Given the description of an element on the screen output the (x, y) to click on. 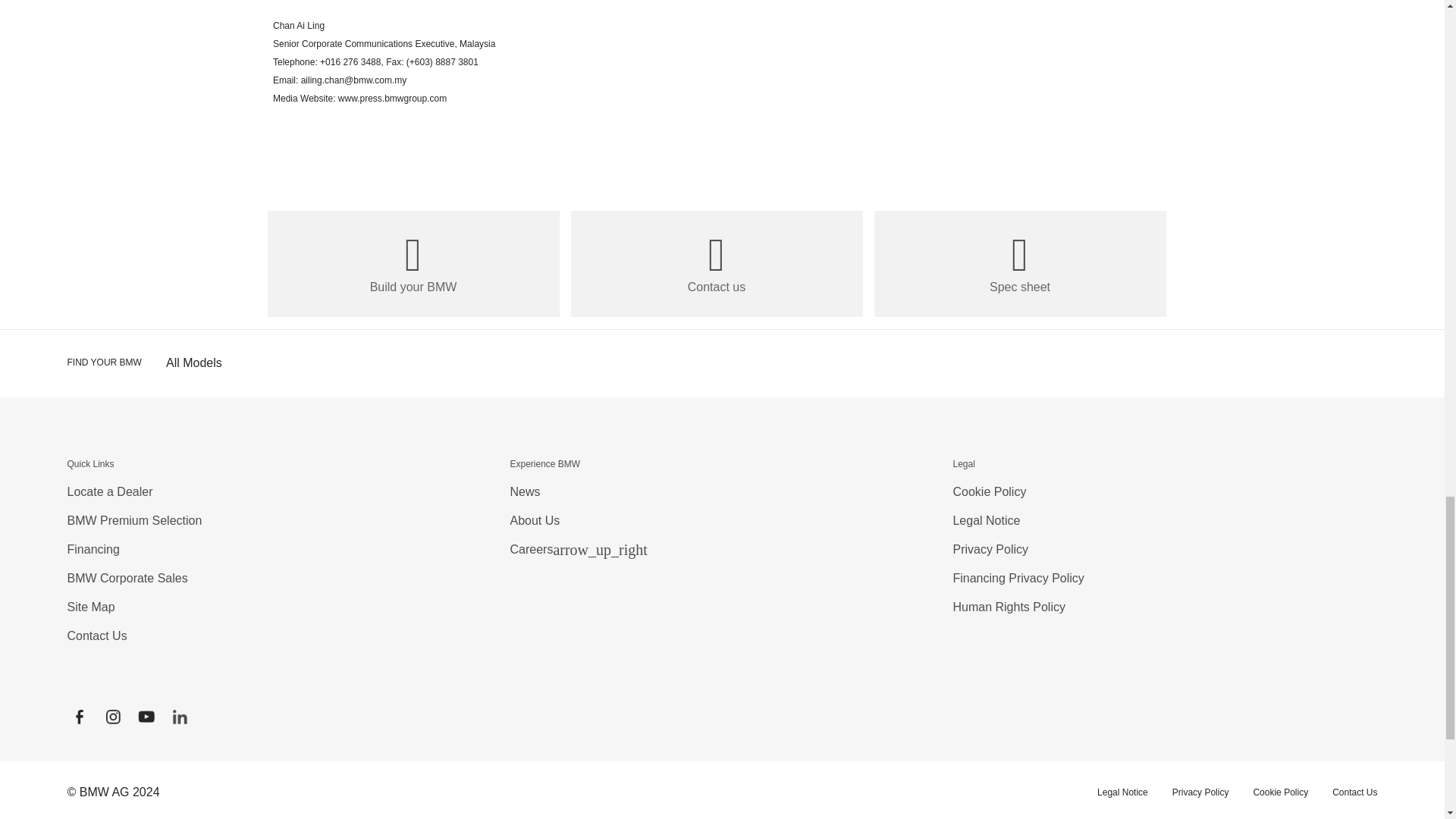
Spec sheet (1019, 263)
Contact us (716, 263)
Build your BMW (412, 263)
